Given the description of an element on the screen output the (x, y) to click on. 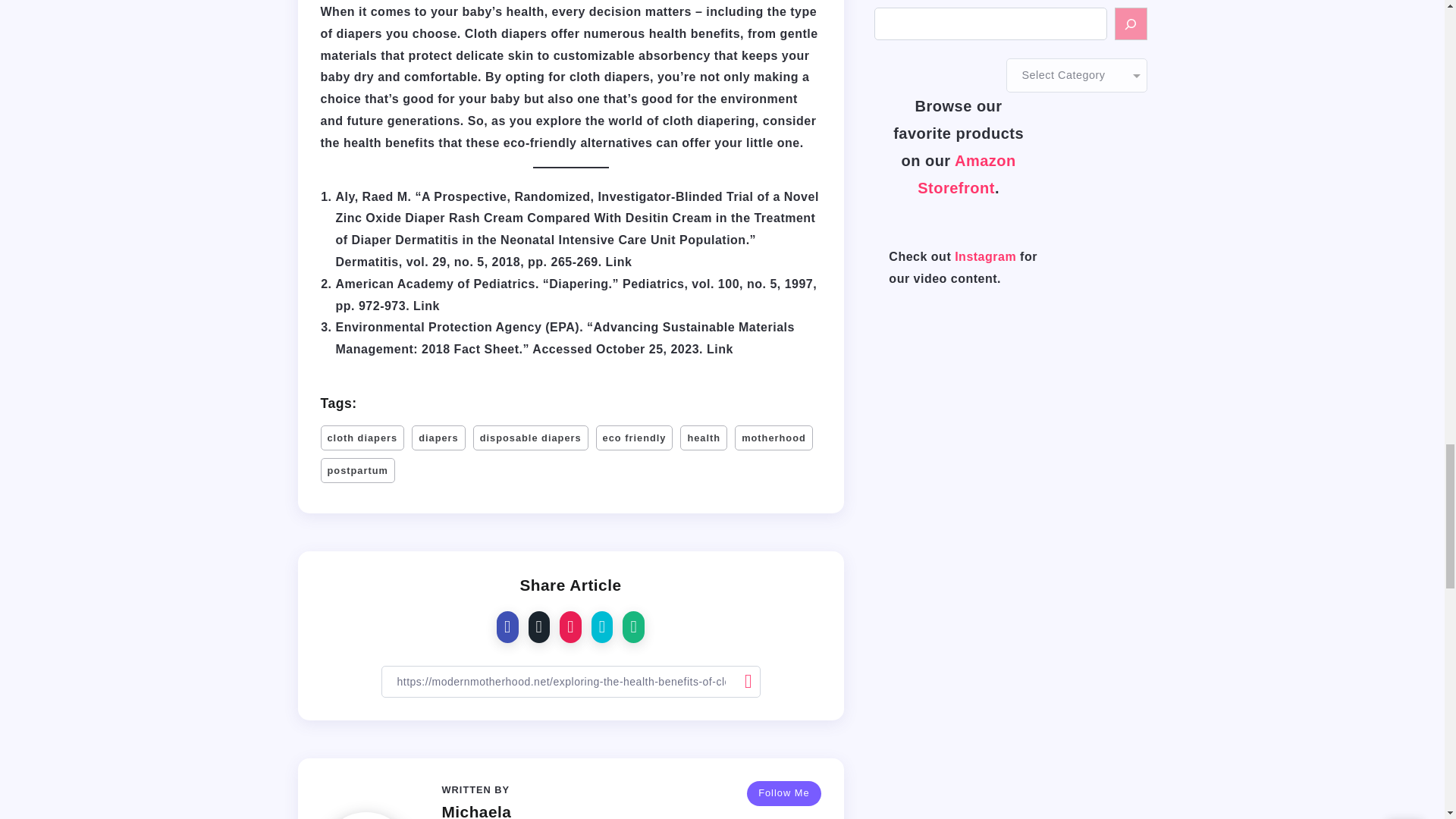
diapers (438, 437)
Link (618, 261)
cloth diapers (362, 437)
Link (719, 349)
Link (426, 305)
